Given the description of an element on the screen output the (x, y) to click on. 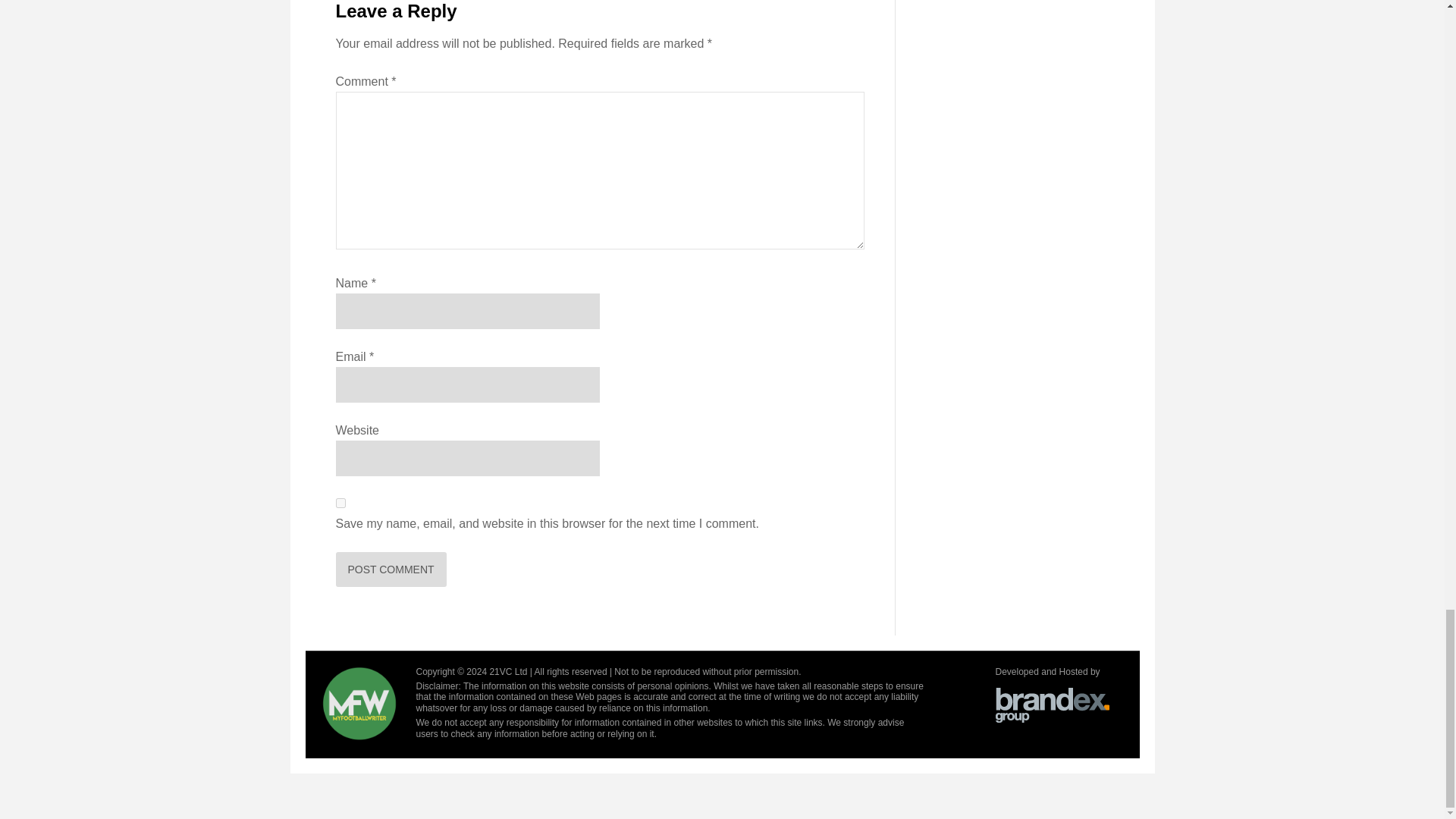
yes (339, 502)
Post Comment (389, 569)
Post Comment (389, 569)
